Given the description of an element on the screen output the (x, y) to click on. 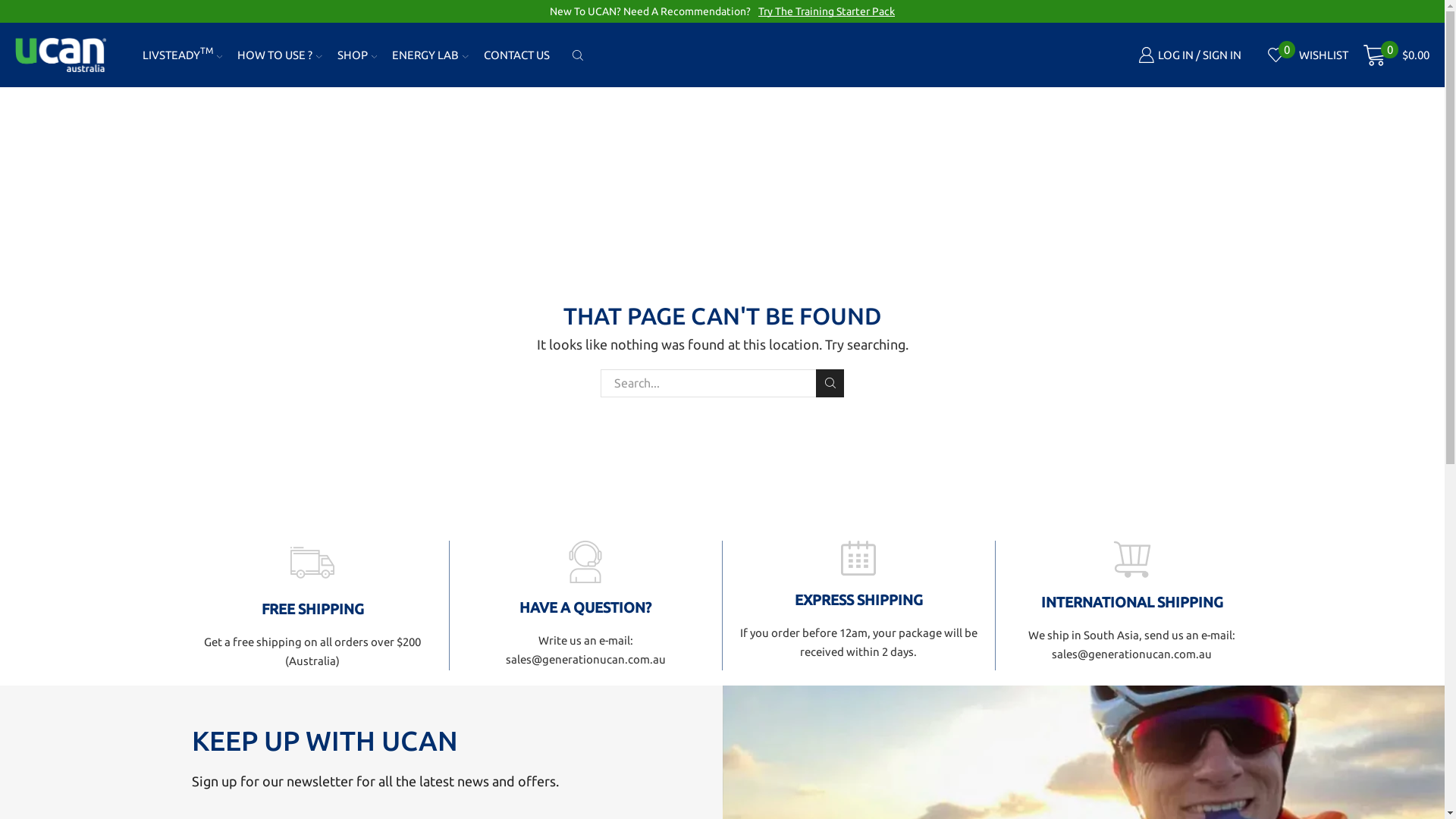
LIVSTEADYTM Element type: text (182, 54)
LOG IN / SIGN IN Element type: text (1189, 54)
0
$0.00 Element type: text (1396, 55)
HOW TO USE ? Element type: text (279, 54)
CONTACT US Element type: text (516, 54)
0
WISHLIST Element type: text (1308, 54)
SEARCH Element type: text (829, 383)
Try The Training Starter Pack Element type: text (826, 11)
SHOP Element type: text (357, 54)
ENERGY LAB Element type: text (430, 54)
